Given the description of an element on the screen output the (x, y) to click on. 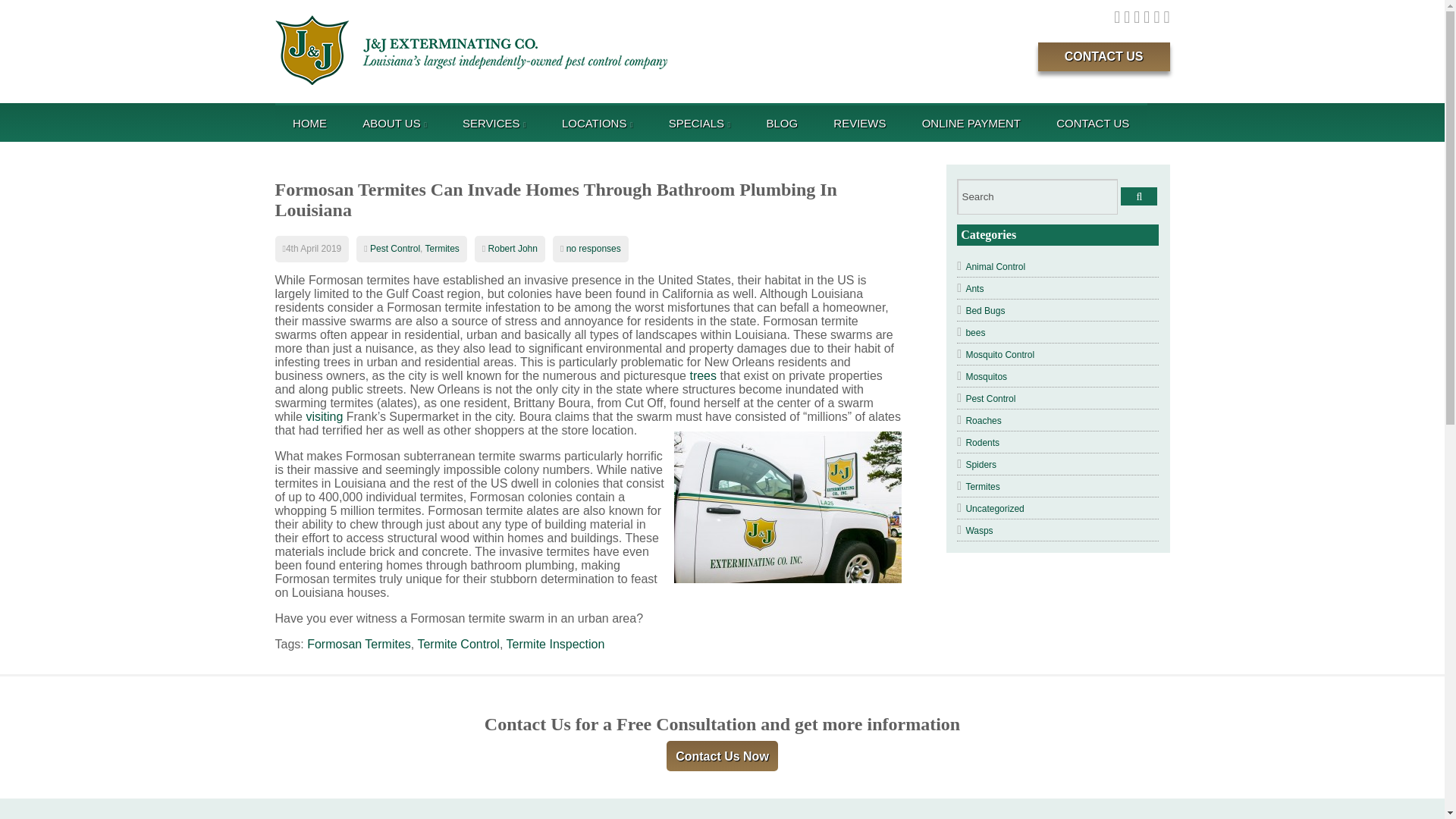
Services (491, 123)
About Us (391, 123)
Search (1037, 196)
JJ Exterminating (470, 50)
SERVICES (491, 123)
LOCATIONS (594, 123)
HOME (309, 123)
ABOUT US (391, 123)
CONTACT US (1104, 56)
Contact Us (1104, 56)
